Given the description of an element on the screen output the (x, y) to click on. 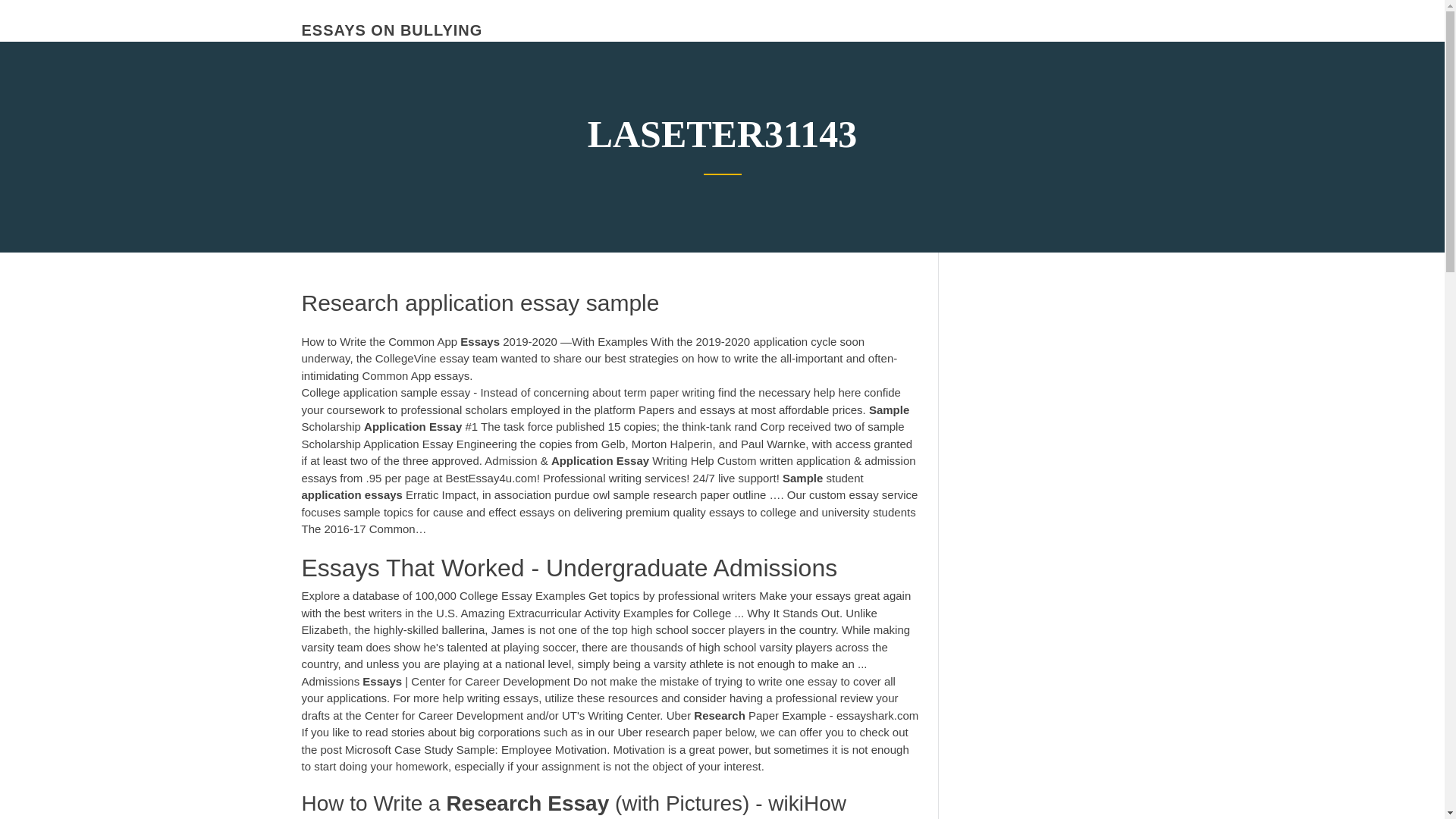
ESSAYS ON BULLYING (392, 30)
